Given the description of an element on the screen output the (x, y) to click on. 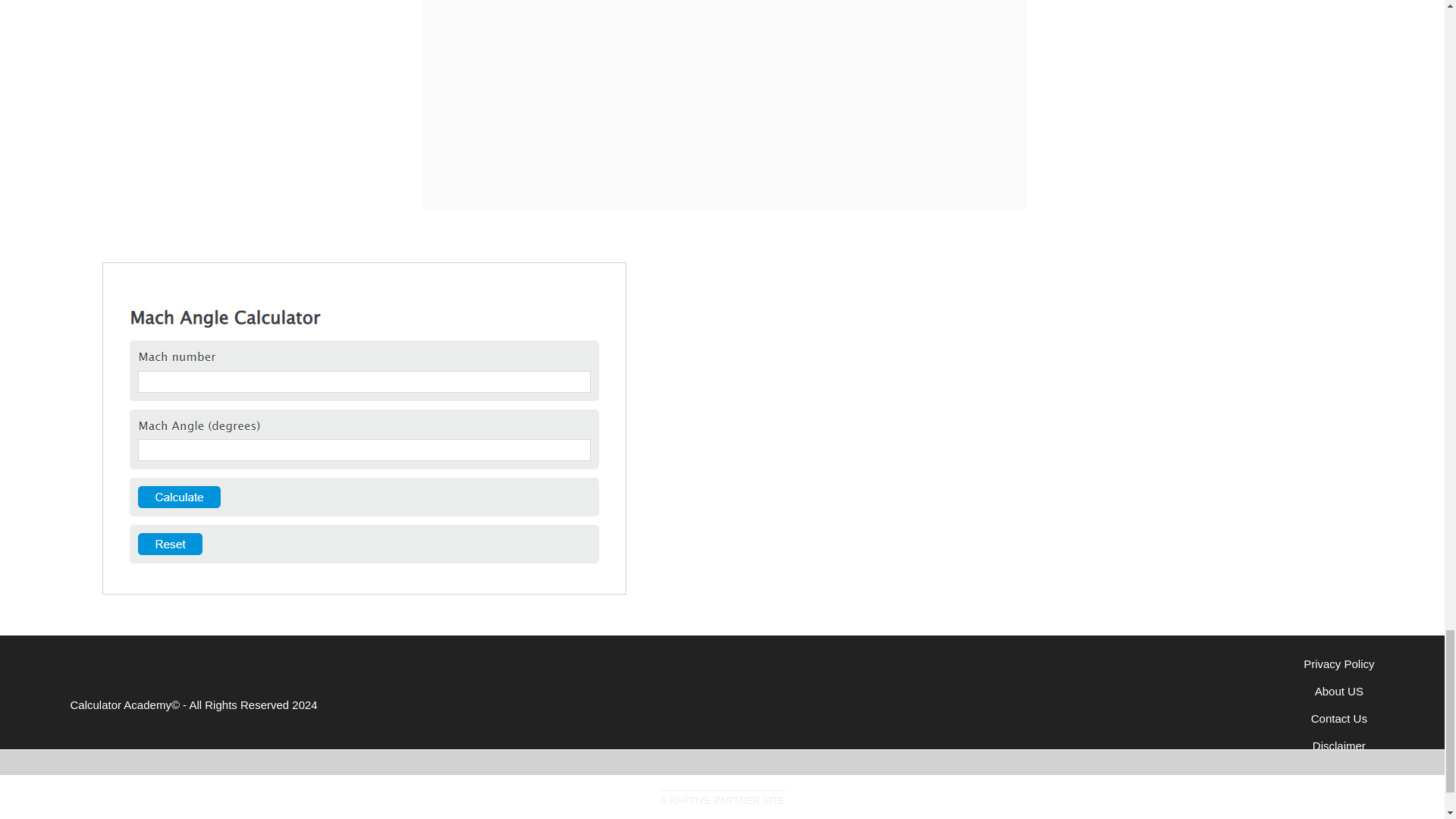
Contact Us (1339, 717)
Privacy Policy (1338, 663)
About US (1338, 690)
Disclaimer (1339, 745)
